Given the description of an element on the screen output the (x, y) to click on. 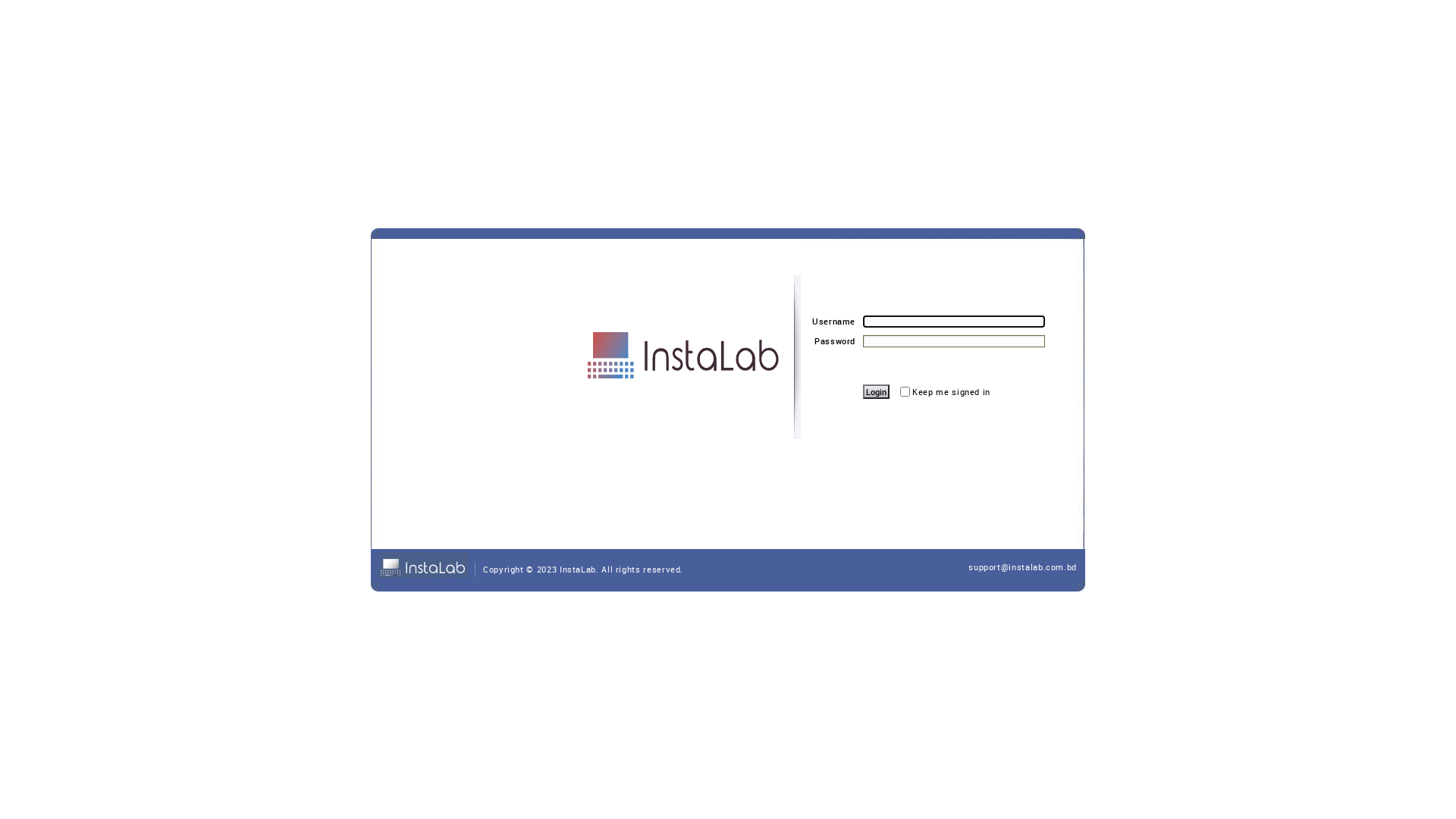
Login Element type: hover (875, 391)
Login Element type: text (875, 391)
